Given the description of an element on the screen output the (x, y) to click on. 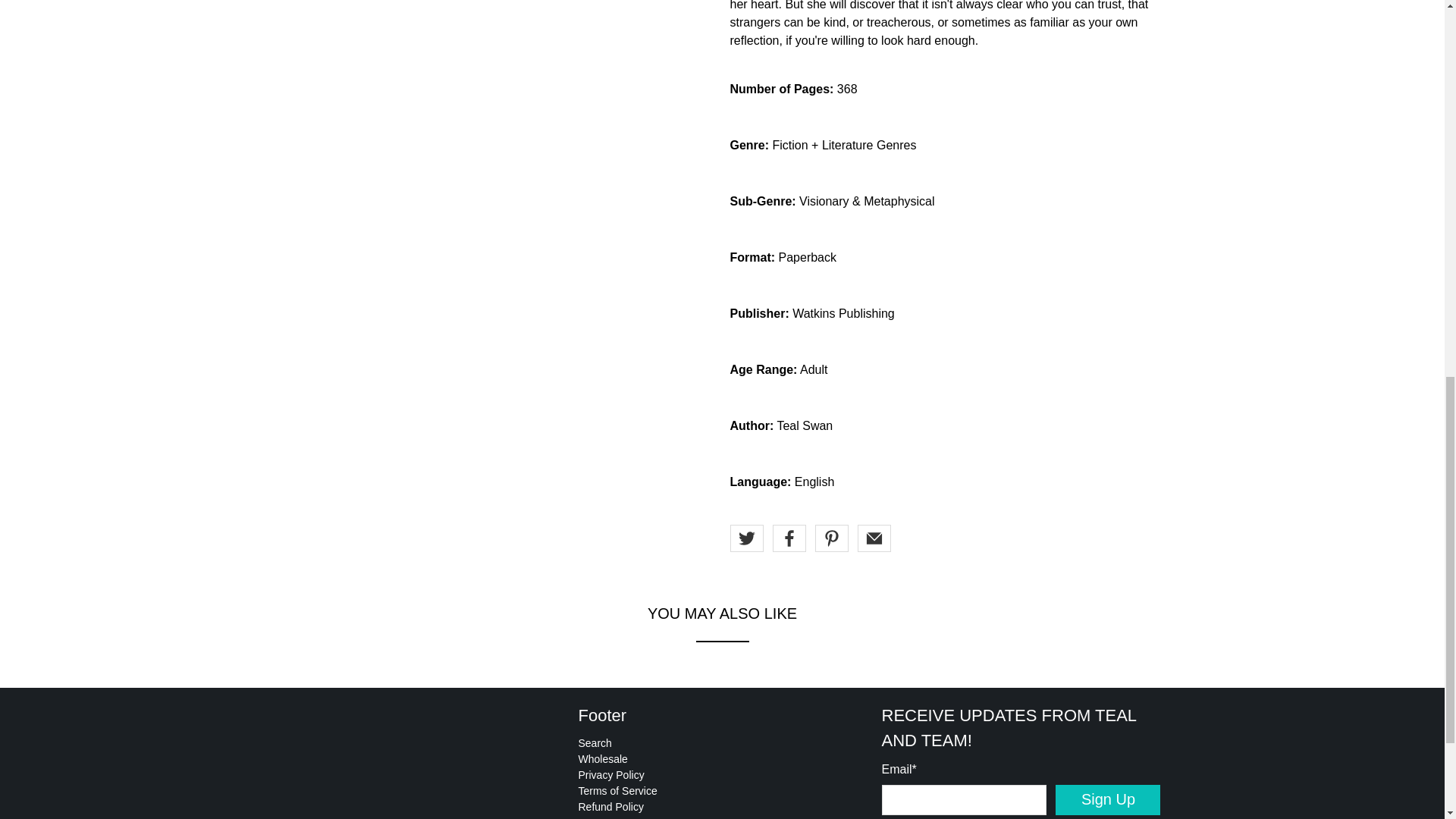
Share this on Twitter (745, 538)
Share this on Pinterest (830, 538)
Email this to a friend (873, 538)
Share this on Facebook (788, 538)
